Given the description of an element on the screen output the (x, y) to click on. 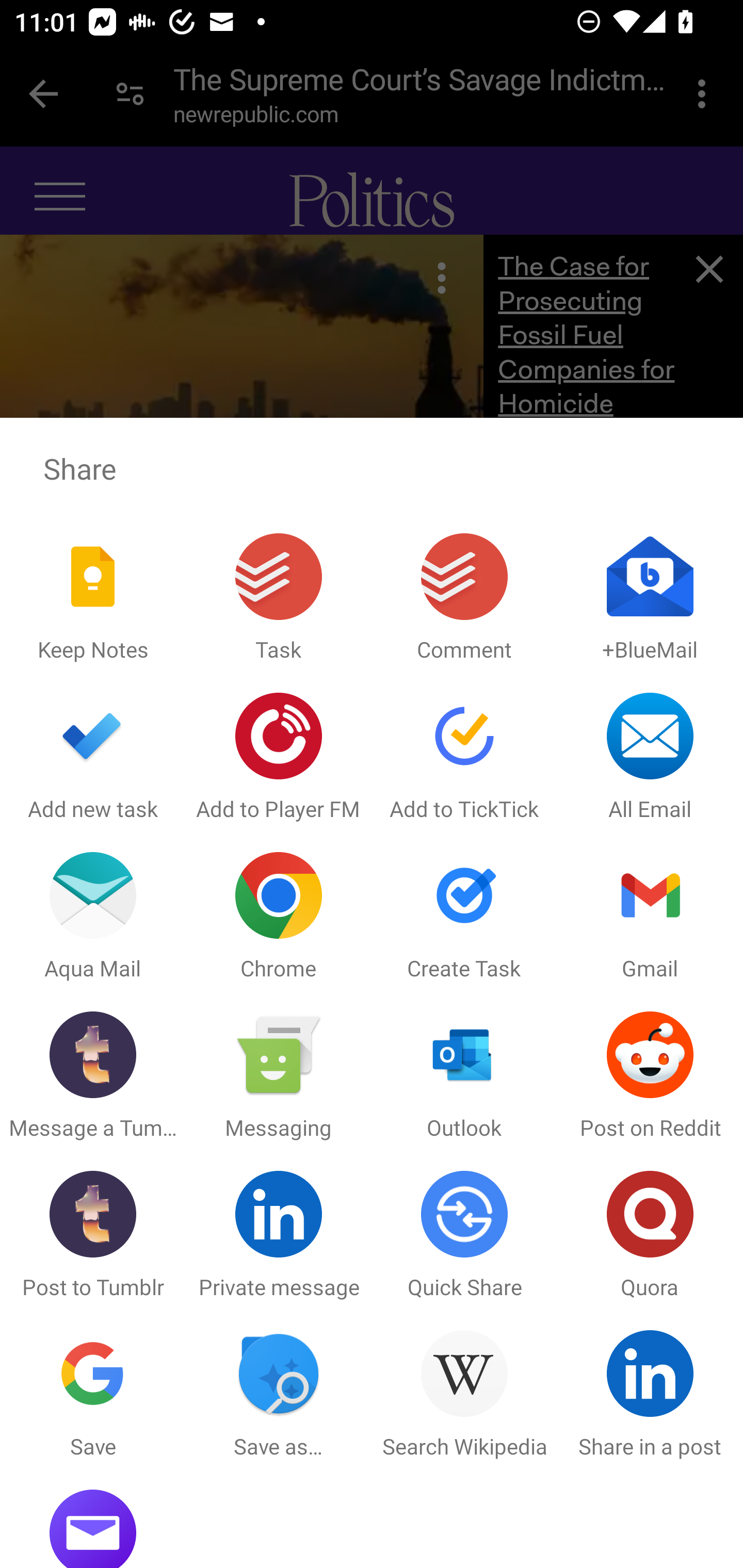
Keep Notes (92, 598)
Task (278, 598)
Comment (464, 598)
+BlueMail (650, 598)
Add new task (92, 757)
Add to Player FM (278, 757)
Add to TickTick (464, 757)
All Email (650, 757)
Aqua Mail (92, 917)
Chrome (278, 917)
Create Task (464, 917)
Gmail (650, 917)
Message a Tumblr (92, 1077)
Messaging (278, 1077)
Outlook (464, 1077)
Post on Reddit (650, 1077)
Post to Tumblr (92, 1236)
Private message (278, 1236)
Quick Share (464, 1236)
Quora (650, 1236)
Save (92, 1395)
Save as… (278, 1395)
Search Wikipedia (464, 1395)
Share in a post (650, 1395)
